Given the description of an element on the screen output the (x, y) to click on. 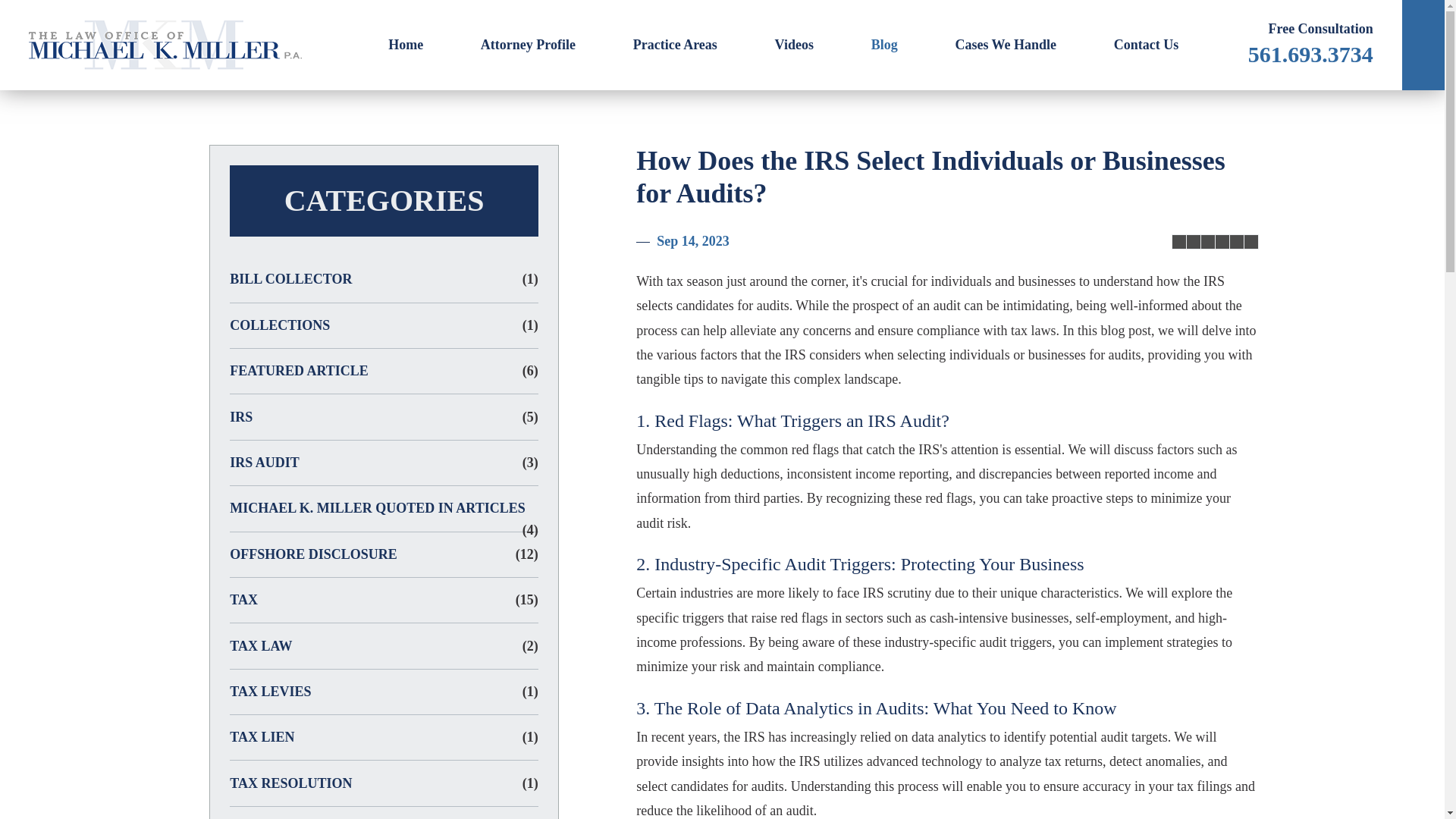
Contact Us (1145, 45)
Home (405, 45)
Attorney Profile (527, 45)
Practice Areas (674, 45)
The Law Office of Michael K. Miller, P.A. (165, 44)
Cases We Handle (1005, 45)
Blog (884, 45)
561.693.3734 (1310, 54)
Videos (794, 45)
